Given the description of an element on the screen output the (x, y) to click on. 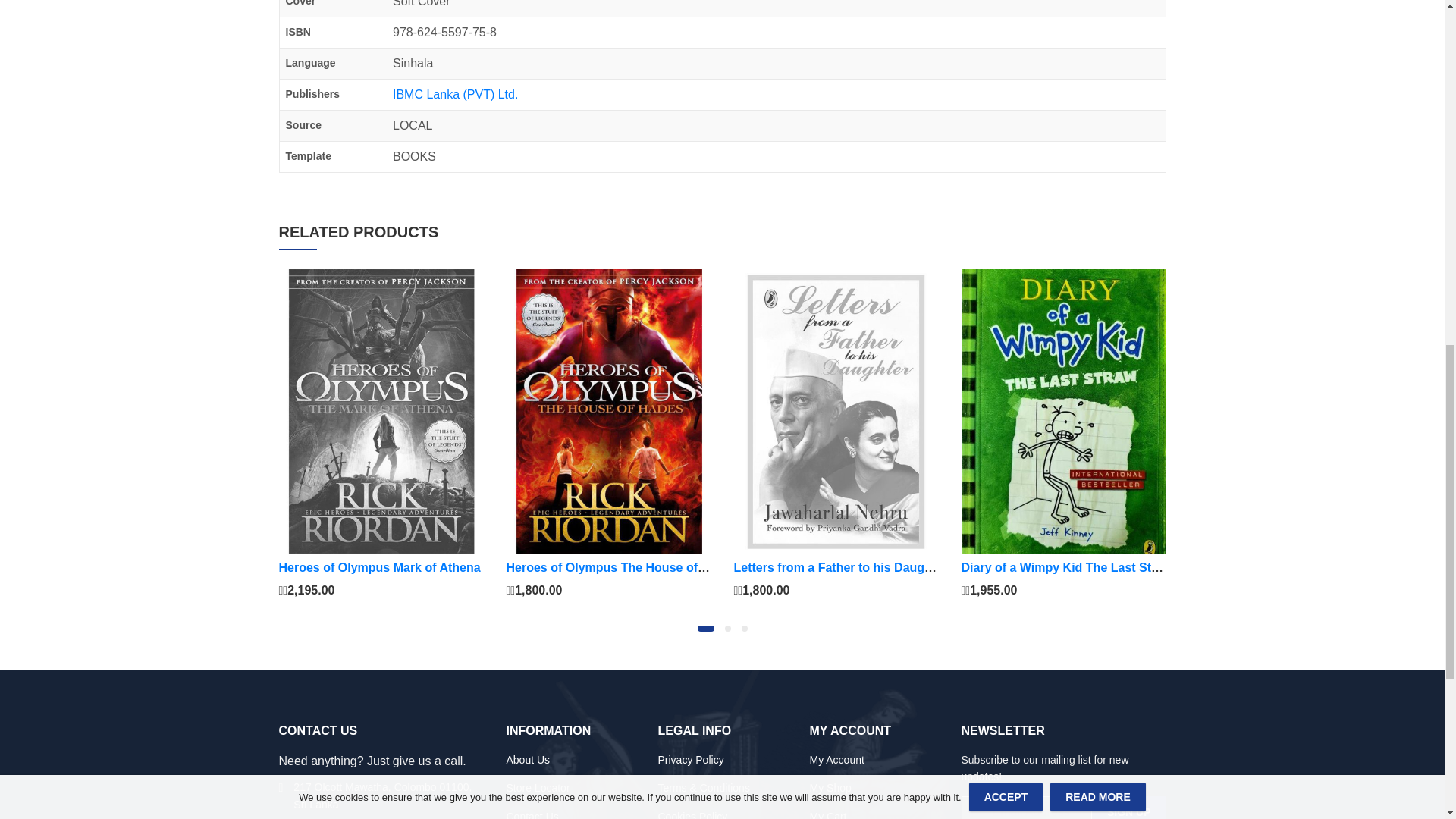
Sign up (1129, 807)
